Given the description of an element on the screen output the (x, y) to click on. 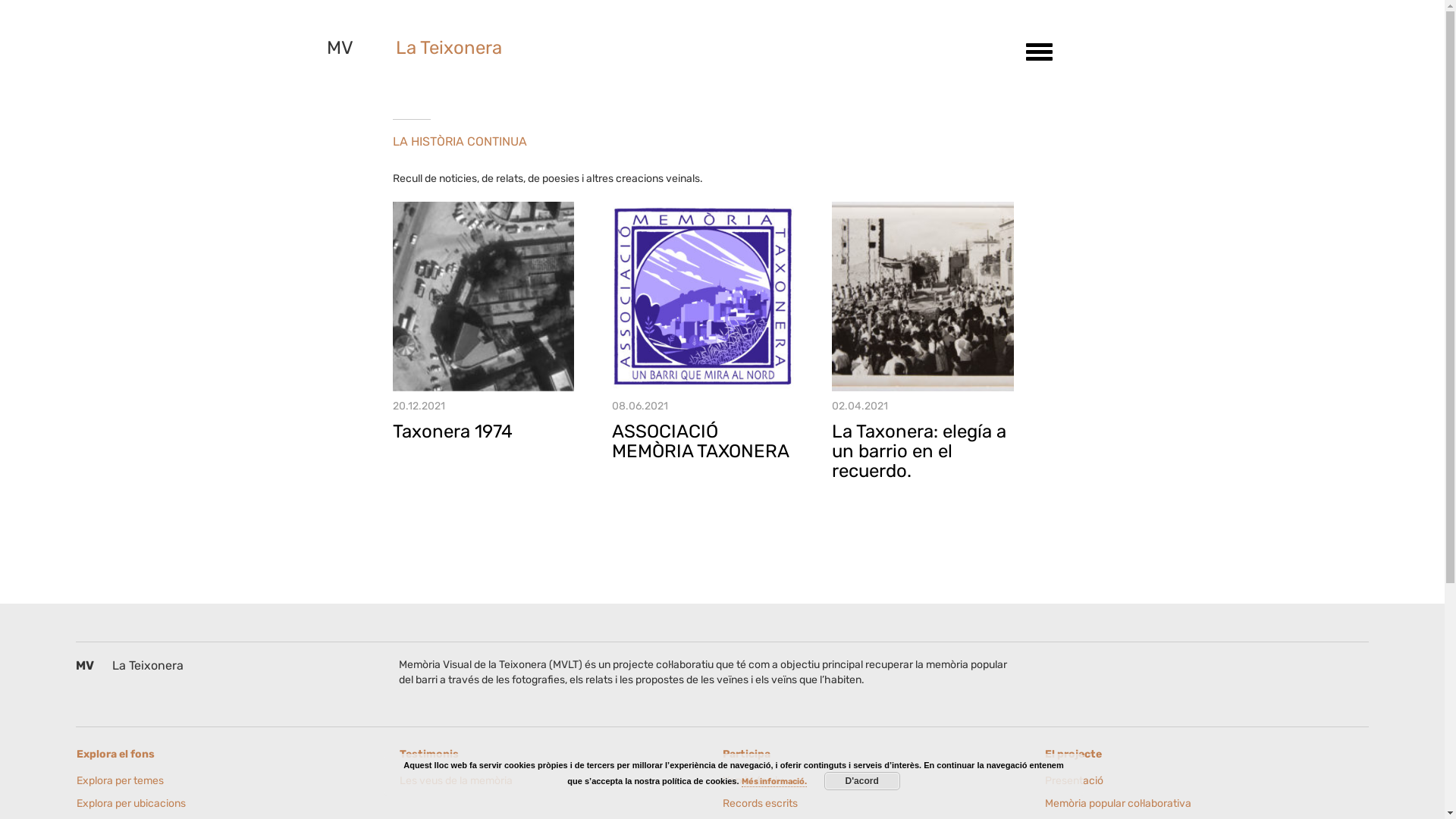
Explora per ubicacions Element type: text (136, 803)
Testimonis Element type: text (560, 754)
Explora el fons Element type: text (237, 754)
El projecte Element type: text (1206, 754)
Explora per temes Element type: text (136, 780)
Toggle navigation Element type: text (1034, 51)
La Teixonera Element type: text (448, 47)
20.12.2021
Taxonera 1974 Element type: text (483, 321)
D'acord Element type: text (862, 780)
Participa Element type: text (882, 754)
Records escrits Element type: text (782, 803)
